Given the description of an element on the screen output the (x, y) to click on. 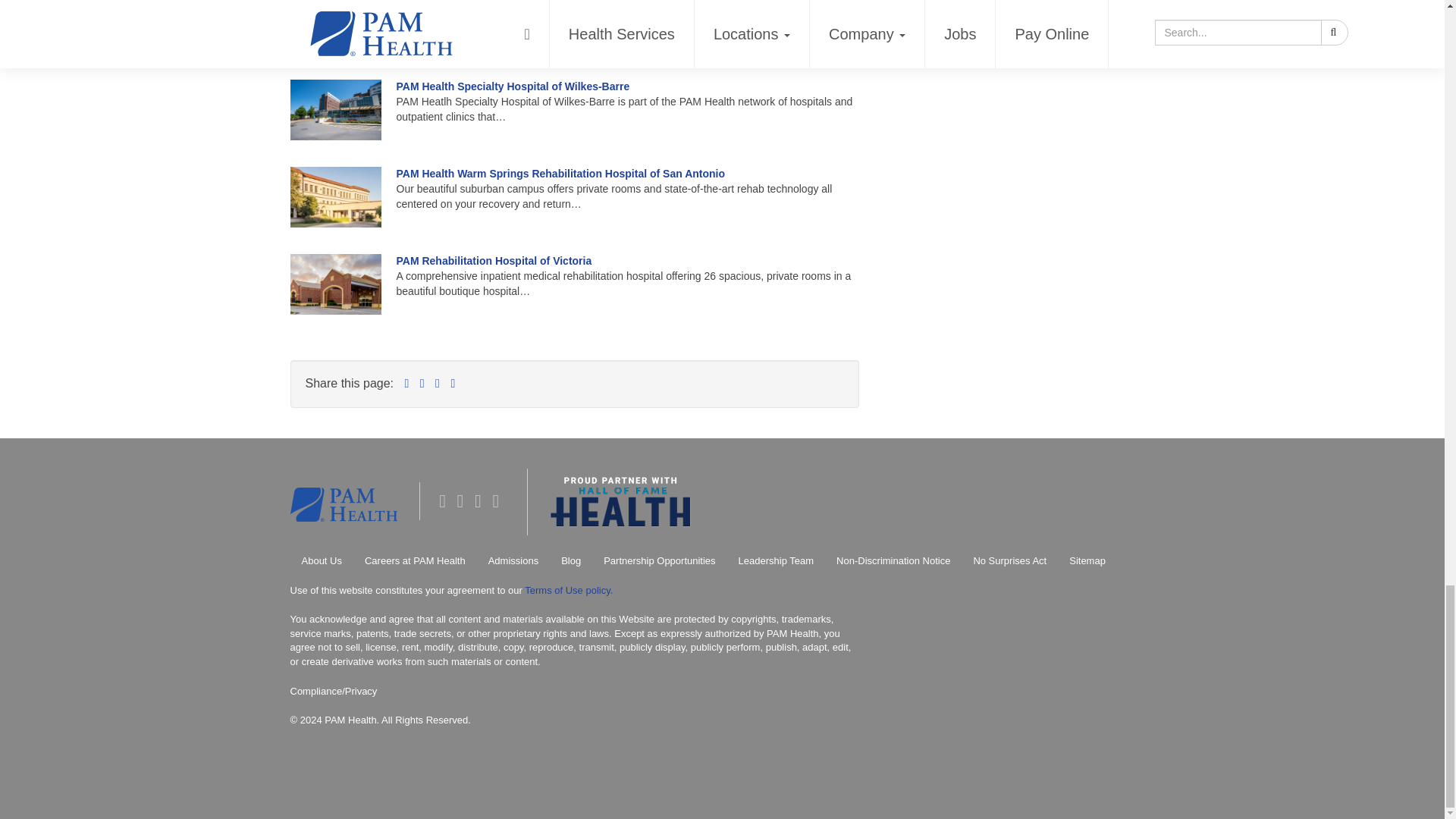
PAM Health Specialty Hospital of Tulsa (493, 2)
